Given the description of an element on the screen output the (x, y) to click on. 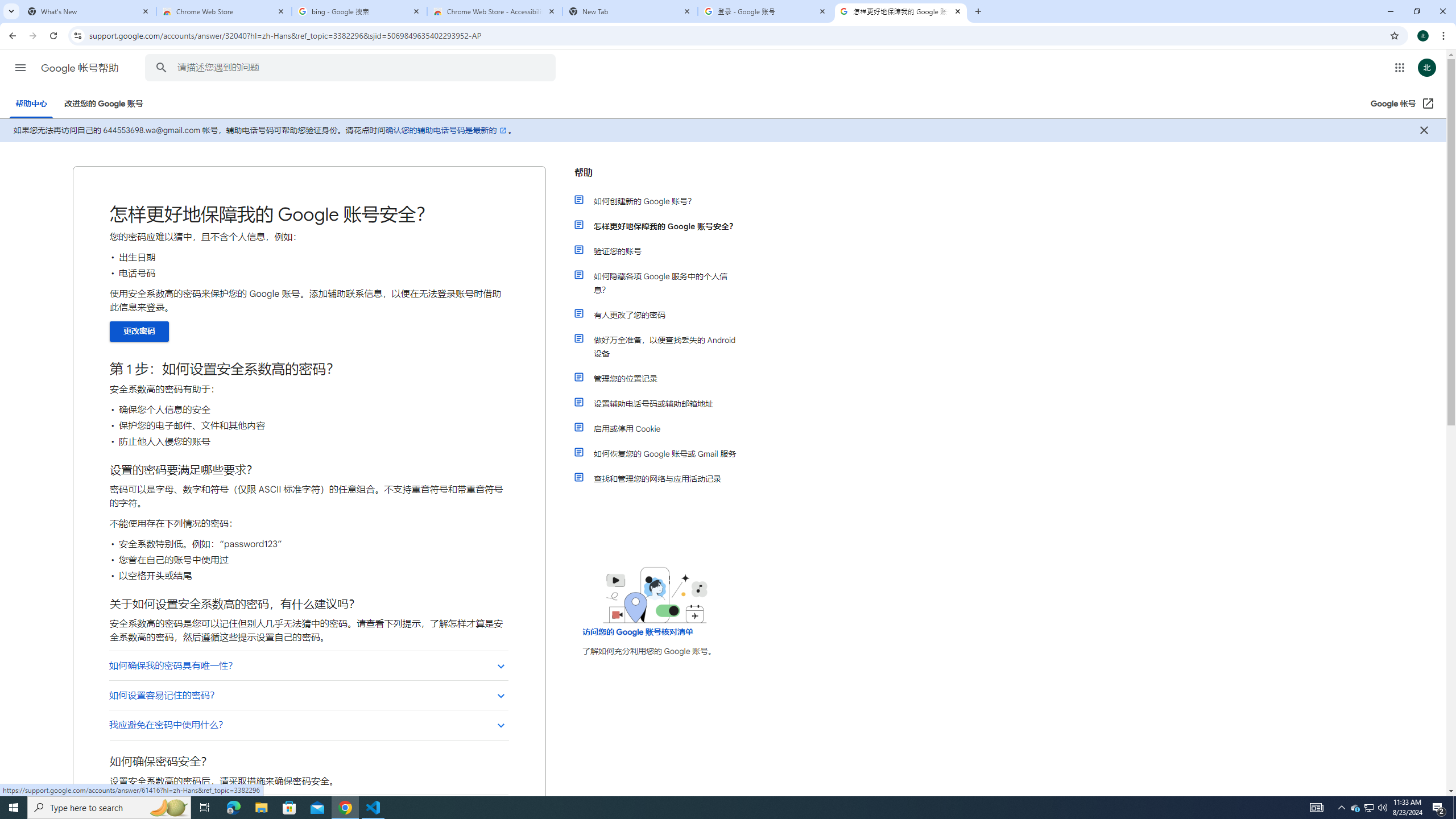
Learning Center home page image (655, 595)
